Given the description of an element on the screen output the (x, y) to click on. 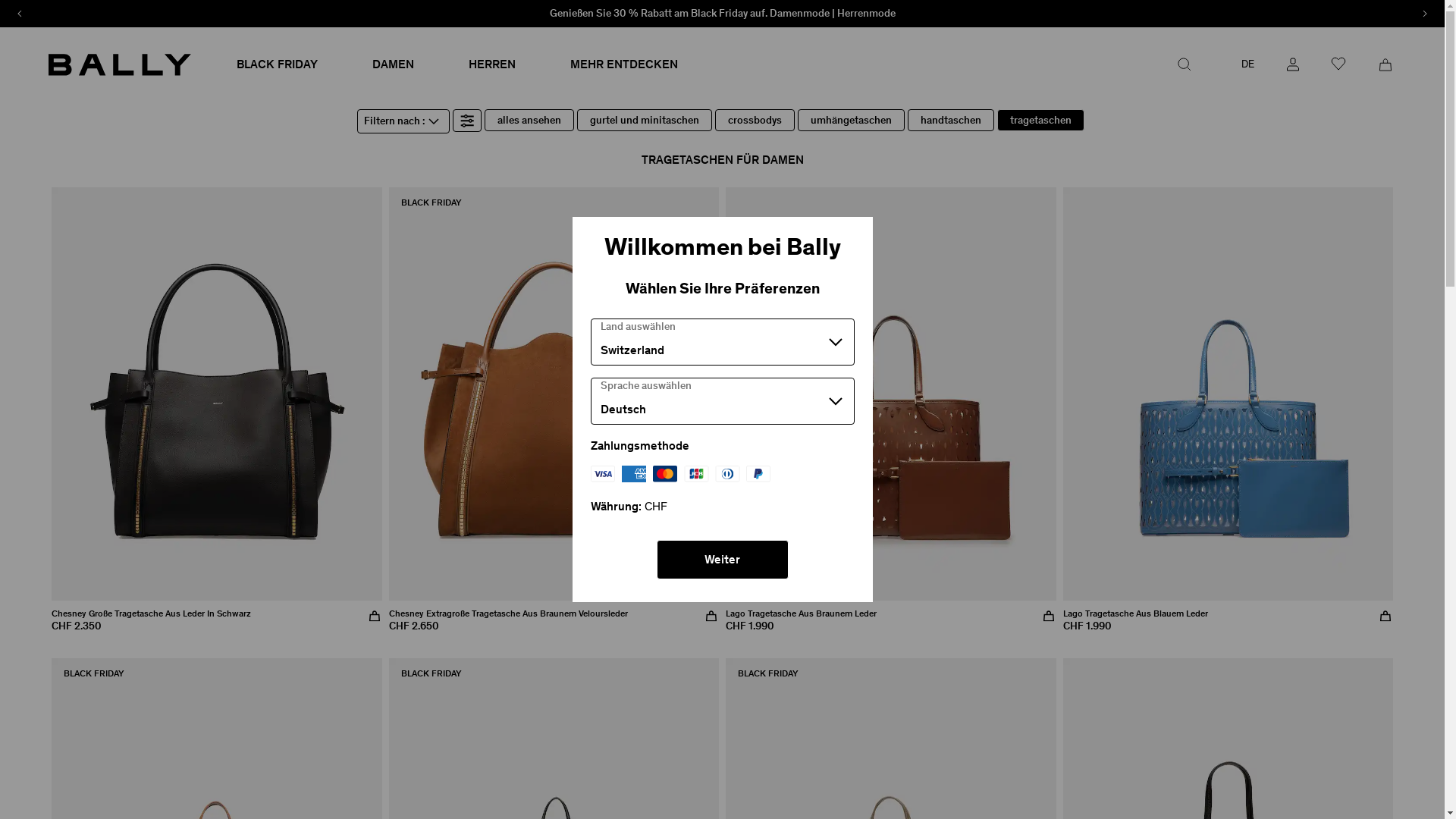
Filtern nach : Element type: text (403, 121)
Damenmode Element type: text (798, 12)
Next Element type: text (1424, 13)
HERREN Element type: text (491, 64)
DAMEN Element type: text (393, 64)
Prev Element type: text (19, 13)
DE Element type: text (1238, 64)
alles ansehen Element type: text (529, 120)
MEHR ENTDECKEN Element type: text (624, 64)
gurtel und minitaschen Element type: text (644, 120)
Lago Tragetasche Aus Blauem Leder Element type: text (1135, 613)
BLACK FRIDAY Element type: text (276, 64)
handtaschen Element type: text (950, 120)
Lago Tragetasche Aus Braunem Leder Element type: text (800, 613)
Weiter Element type: text (722, 559)
CH Element type: hover (1229, 64)
Herrenmode Element type: text (866, 12)
crossbodys Element type: text (754, 120)
tragetaschen Element type: text (1040, 120)
